Given the description of an element on the screen output the (x, y) to click on. 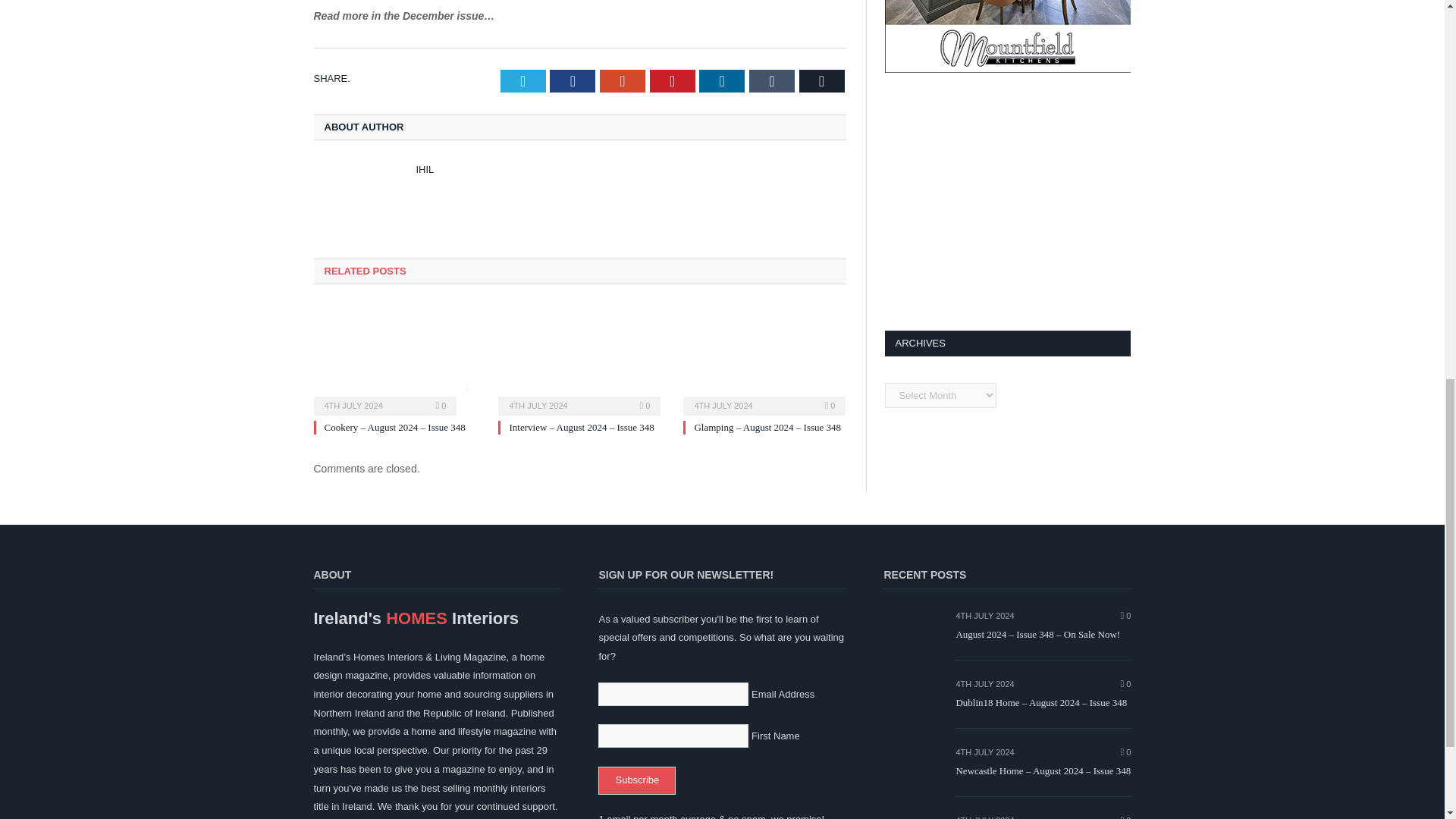
Subscribe (636, 780)
